Given the description of an element on the screen output the (x, y) to click on. 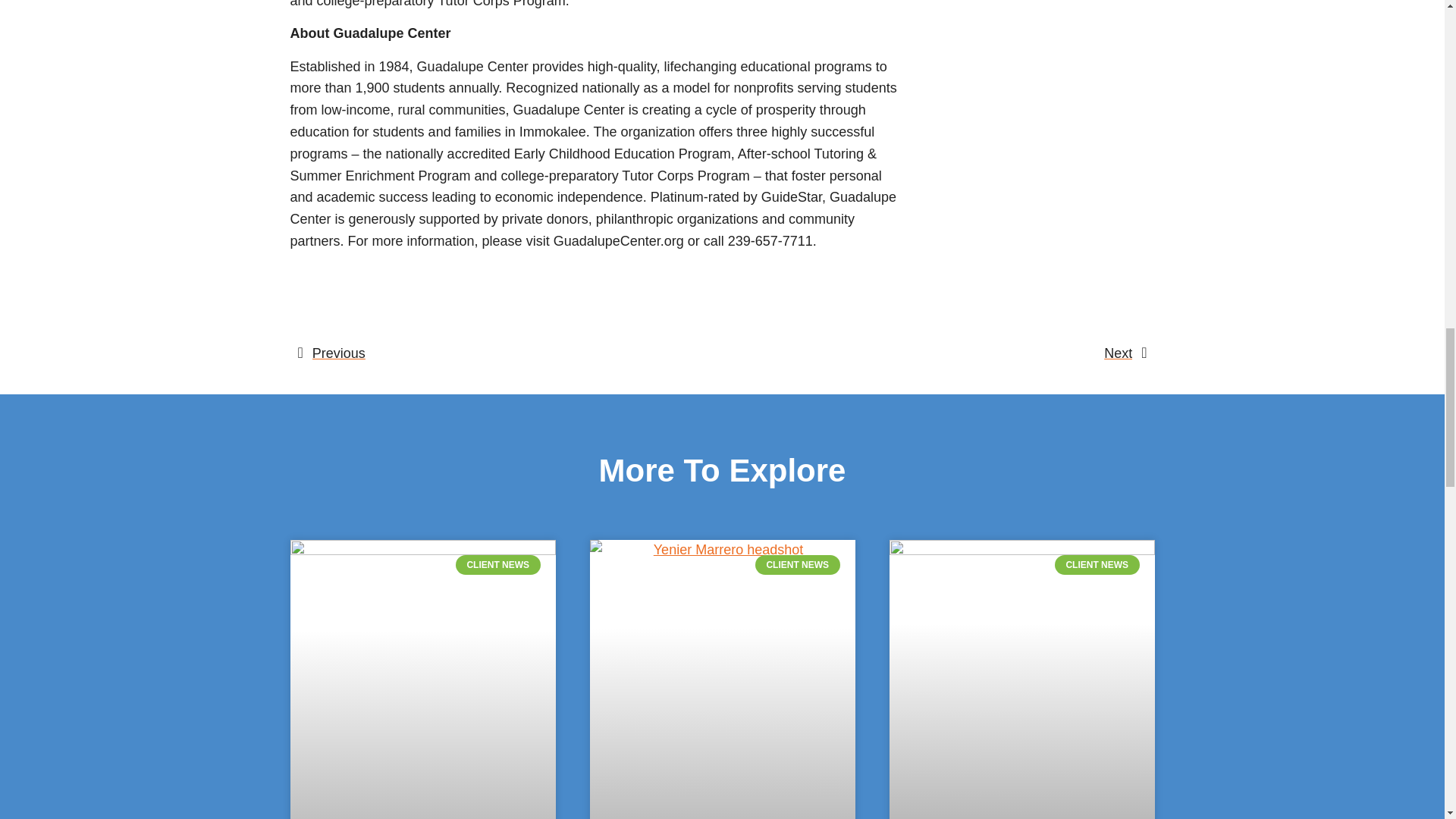
Next (934, 353)
Previous (509, 353)
